Given the description of an element on the screen output the (x, y) to click on. 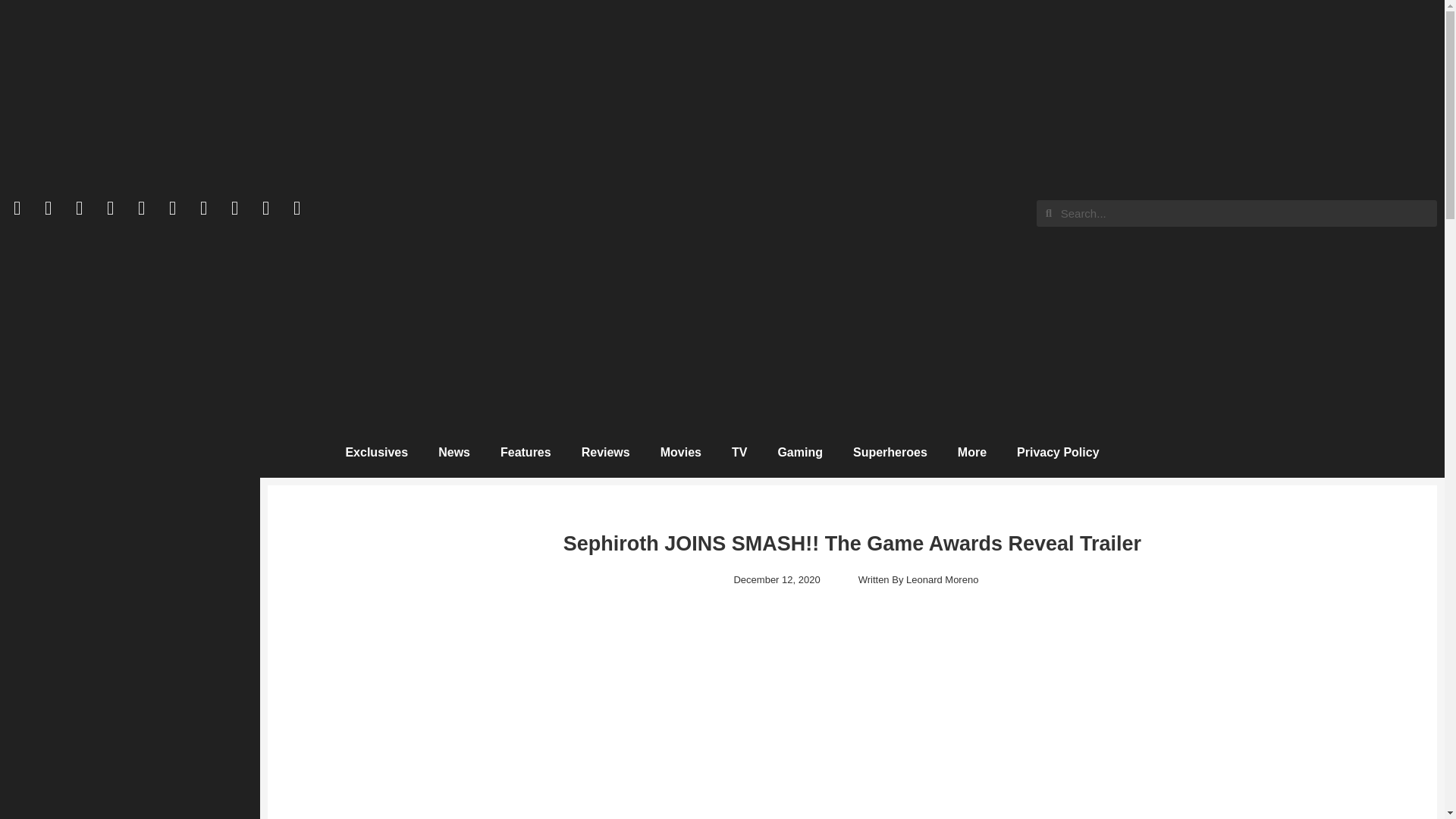
Movies (680, 452)
Features (525, 452)
TV (738, 452)
Exclusives (376, 452)
Gaming (799, 452)
News (453, 452)
Reviews (605, 452)
Superheroes (890, 452)
Privacy Policy (1058, 452)
More (971, 452)
